Given the description of an element on the screen output the (x, y) to click on. 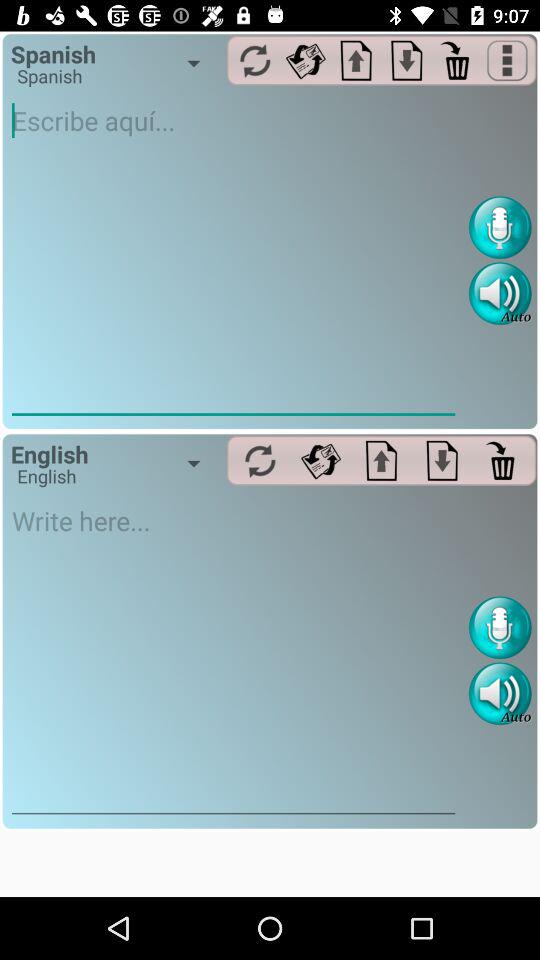
swap the languages (259, 460)
